Given the description of an element on the screen output the (x, y) to click on. 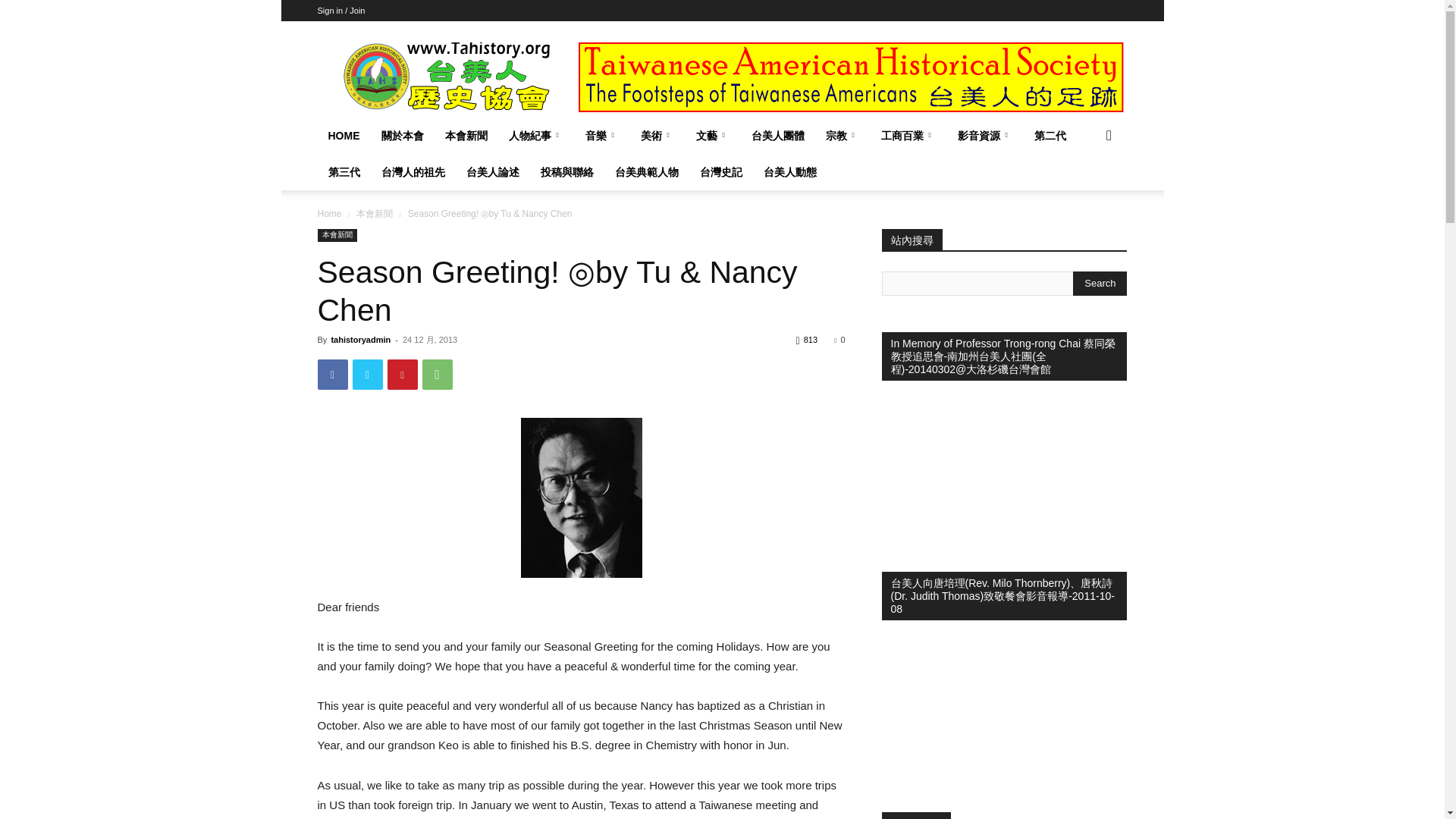
Facebook (332, 374)
Search (1099, 283)
Twitter (366, 374)
Pinterest (401, 374)
WhatsApp (436, 374)
